Given the description of an element on the screen output the (x, y) to click on. 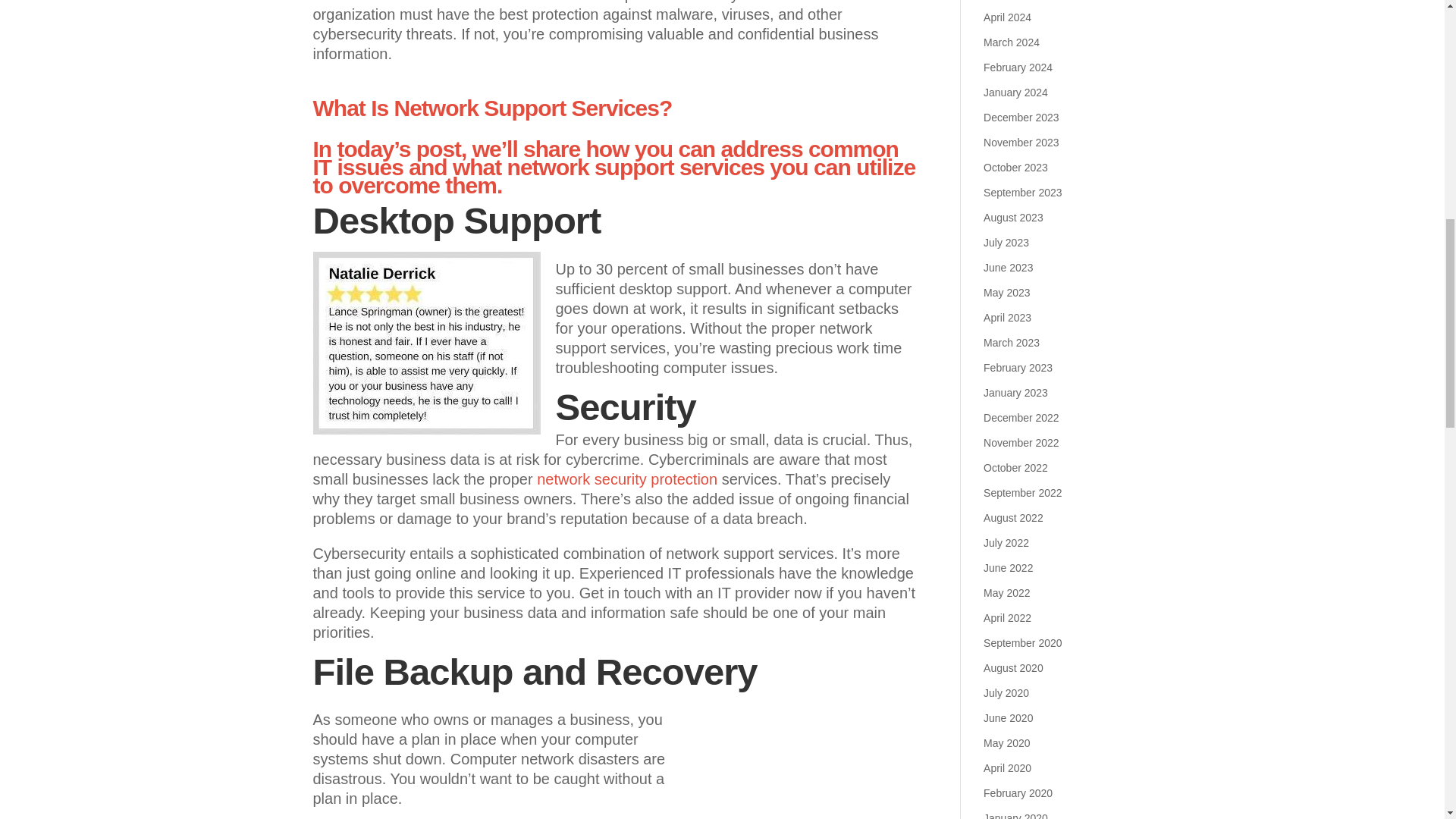
network security protection (627, 478)
December 2023 (1021, 117)
January 2024 (1016, 92)
April 2024 (1007, 17)
November 2023 (1021, 142)
March 2024 (1011, 42)
February 2024 (1018, 67)
